Given the description of an element on the screen output the (x, y) to click on. 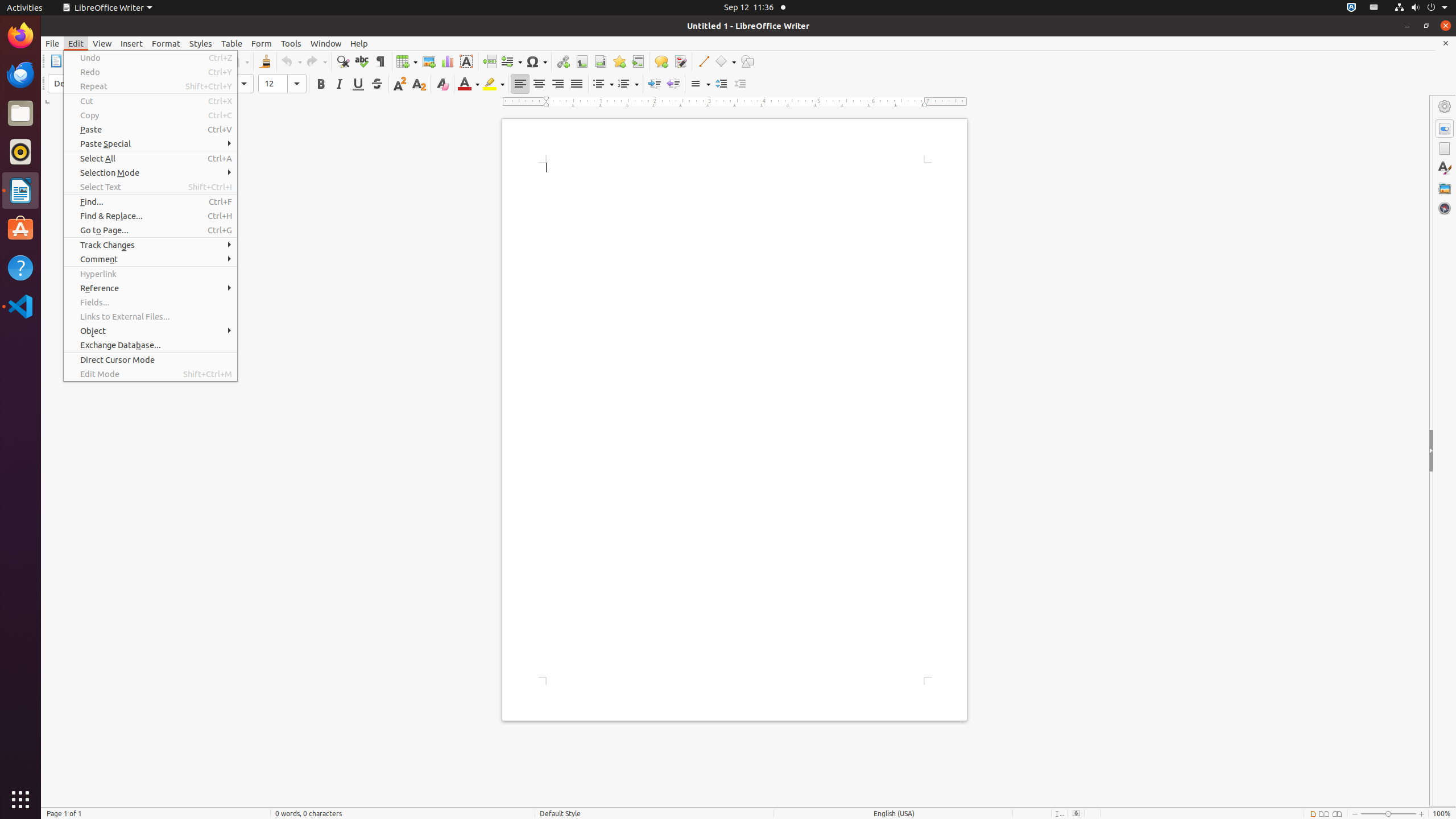
Numbering Element type: push-button (627, 83)
Files Element type: push-button (20, 113)
Visual Studio Code Element type: push-button (20, 306)
Rhythmbox Element type: push-button (20, 151)
File Element type: menu (51, 43)
